Given the description of an element on the screen output the (x, y) to click on. 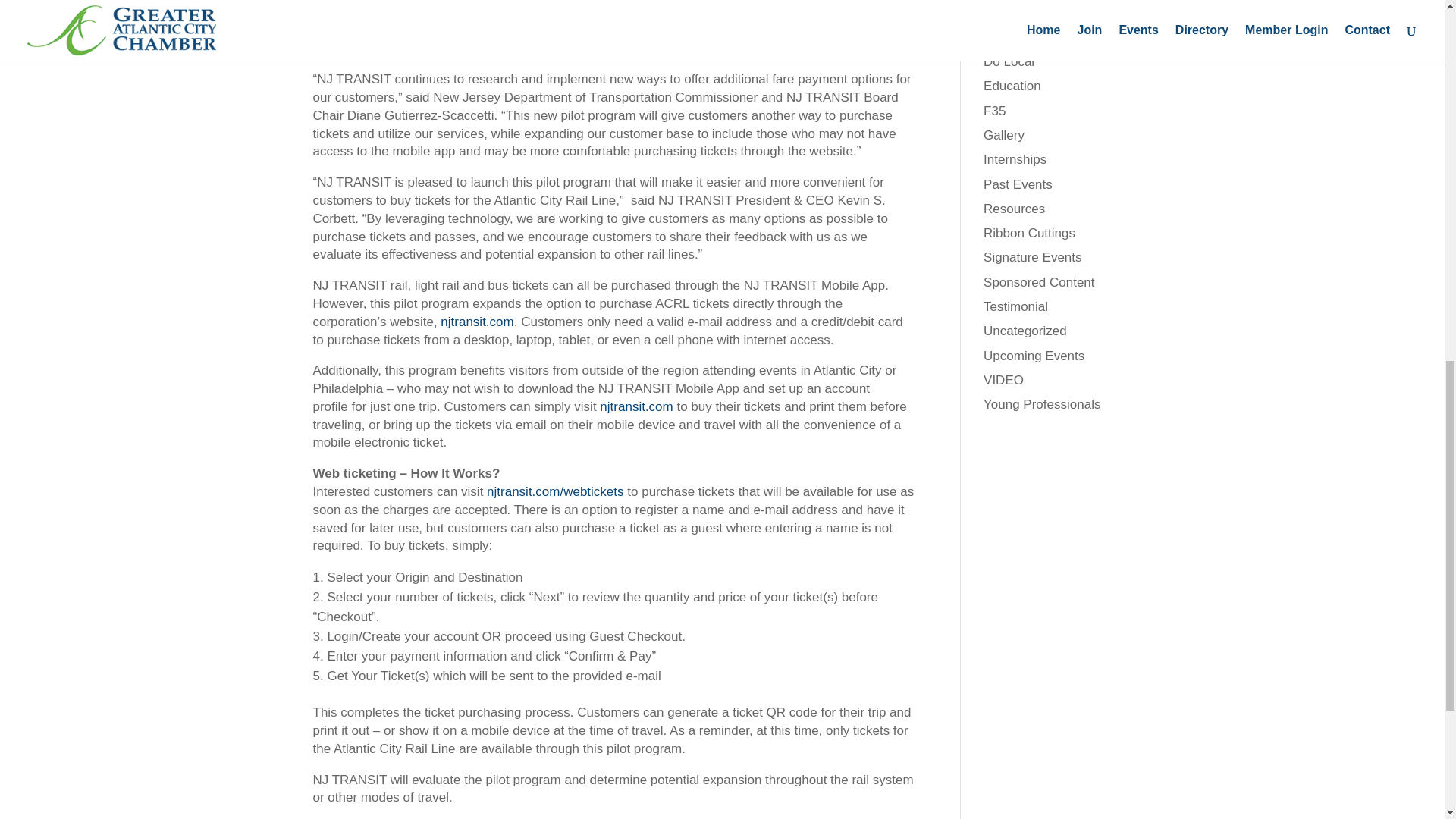
Internships (1015, 159)
Education (1012, 85)
njtransit.com (635, 406)
Community News (1034, 11)
Do Business (1019, 37)
Do Local (1008, 61)
F35 (995, 110)
njtransit.com (573, 47)
Gallery (1004, 134)
njtransit.com (477, 321)
